Given the description of an element on the screen output the (x, y) to click on. 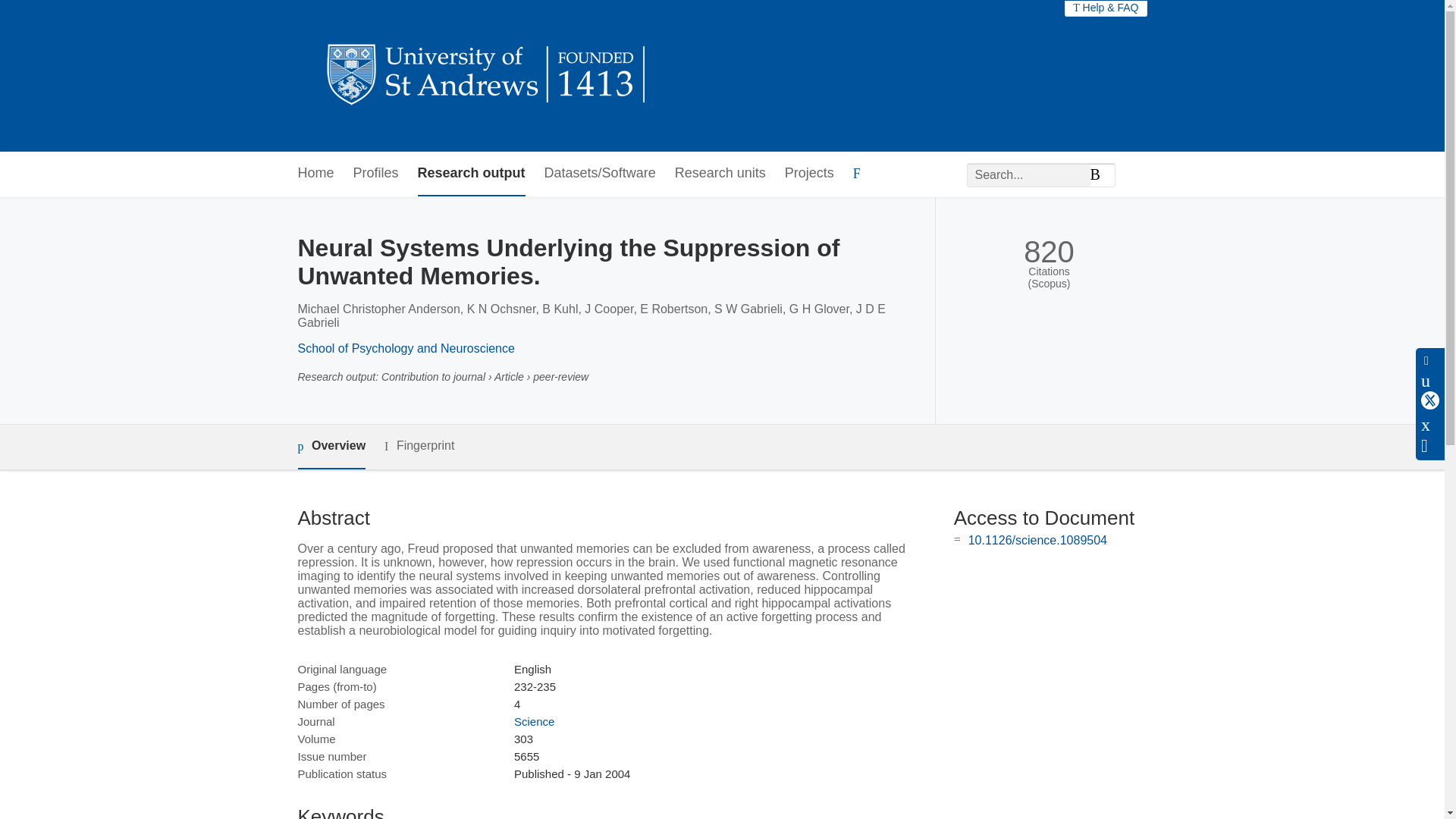
School of Psychology and Neuroscience (405, 348)
Science (533, 721)
Fingerprint (419, 446)
Profiles (375, 173)
Overview (331, 447)
Research units (720, 173)
Research output (471, 173)
Projects (809, 173)
University of St Andrews Research Portal Home (487, 75)
Home (315, 173)
